Given the description of an element on the screen output the (x, y) to click on. 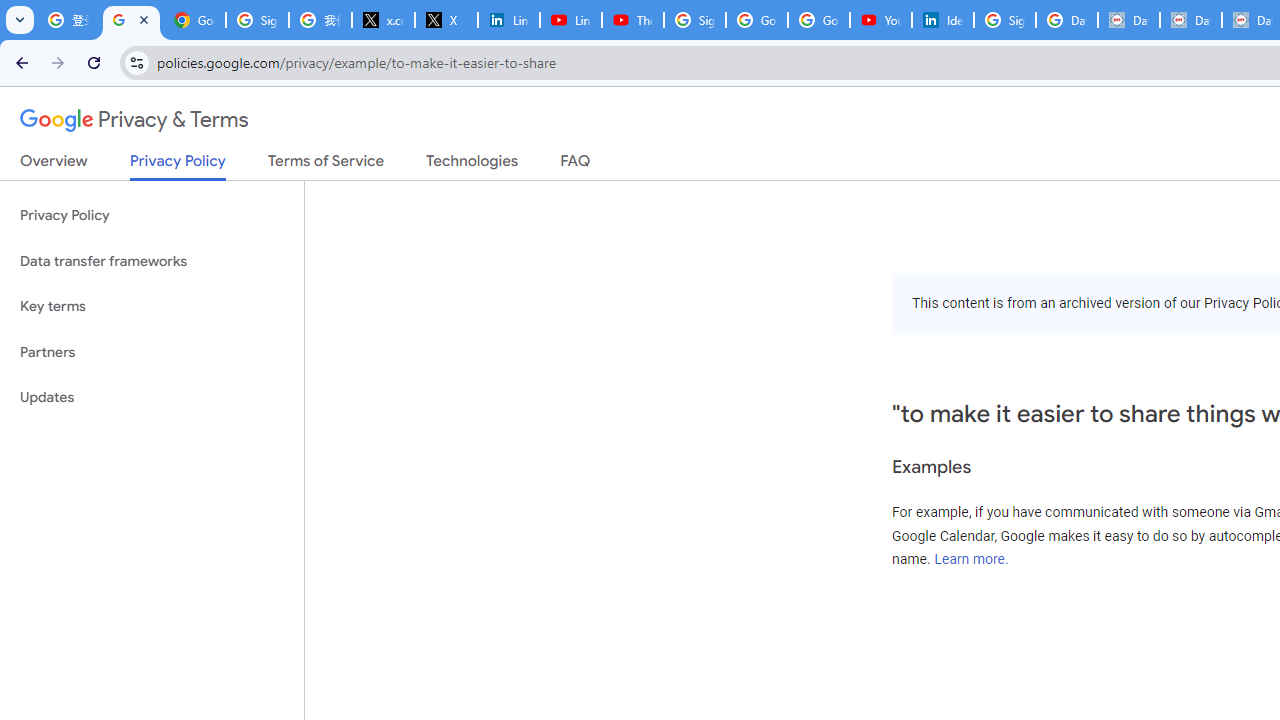
Learn more. (971, 559)
FAQ (575, 165)
Data Privacy Framework (1128, 20)
Data Privacy Framework (1190, 20)
Technologies (472, 165)
LinkedIn Privacy Policy (508, 20)
Sign in - Google Accounts (257, 20)
Data transfer frameworks (152, 261)
